Given the description of an element on the screen output the (x, y) to click on. 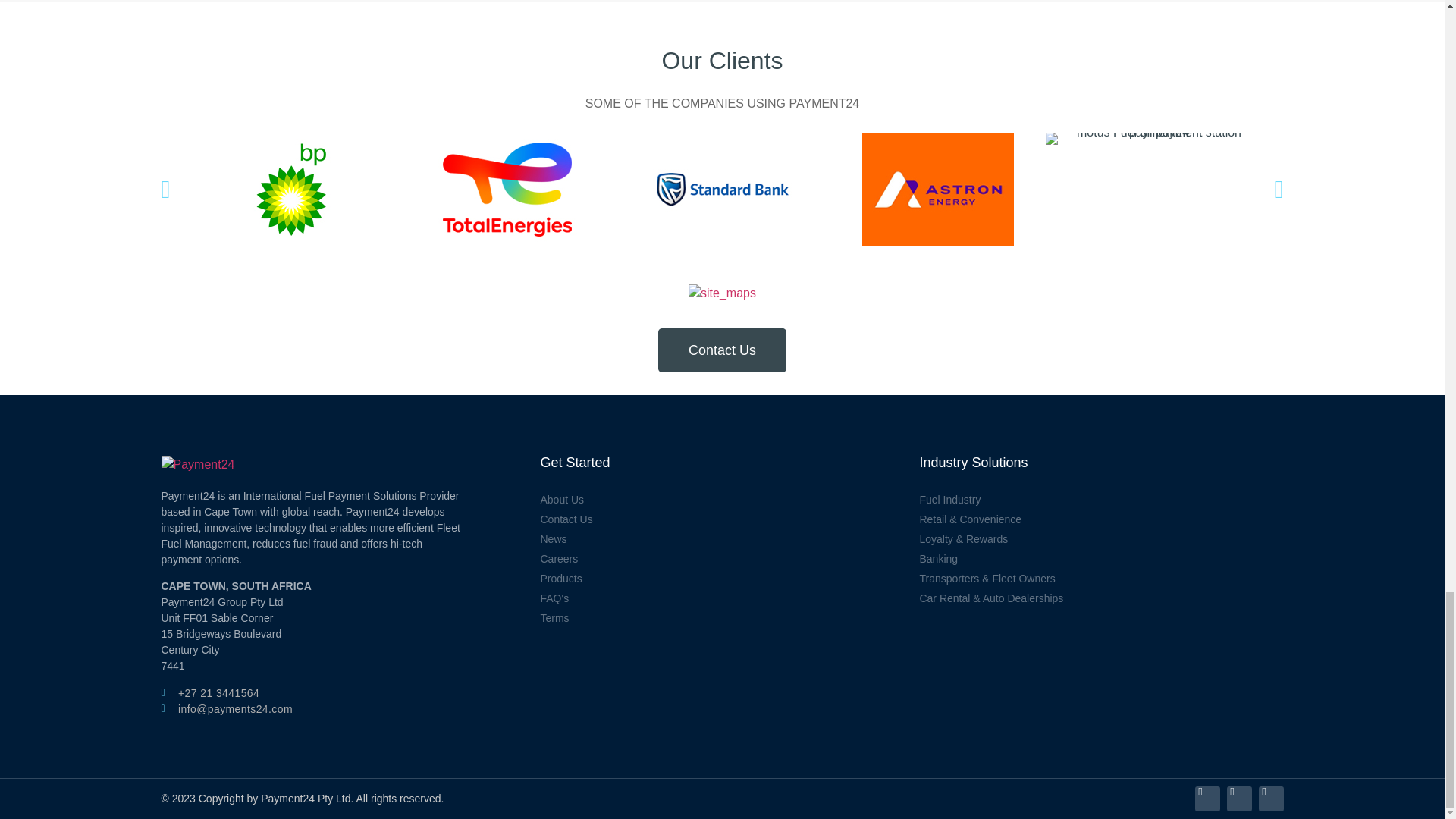
FAQ's (722, 598)
Fuel Industry (1100, 499)
Terms (722, 618)
Products (722, 578)
News (722, 539)
Careers (722, 559)
Contact Us (722, 350)
Contact Us (722, 519)
About Us (722, 499)
